Given the description of an element on the screen output the (x, y) to click on. 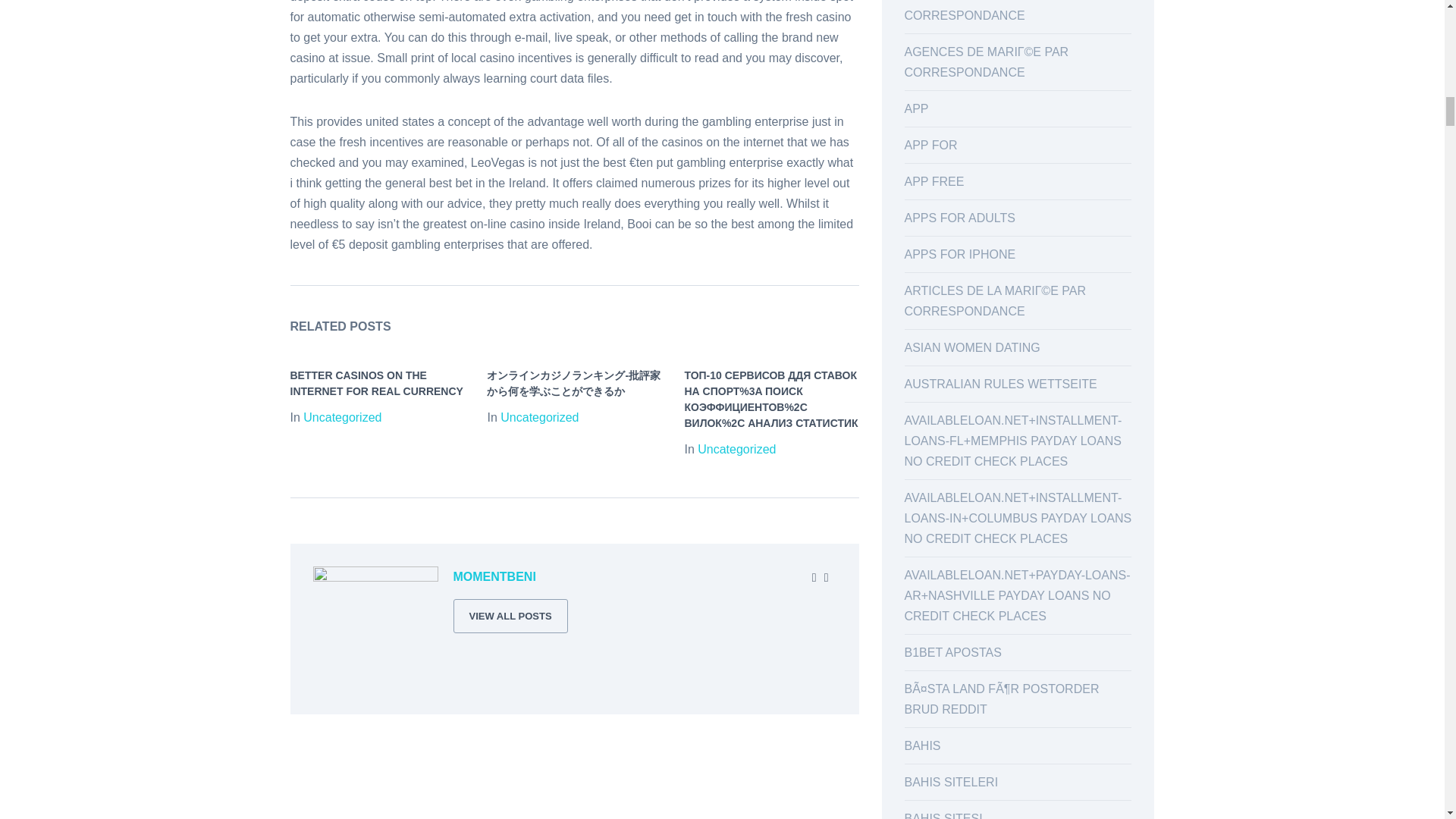
Uncategorized (341, 417)
Uncategorized (736, 449)
Uncategorized (341, 417)
Uncategorized (736, 449)
VIEW ALL POSTS (509, 615)
Uncategorized (539, 417)
BETTER CASINOS ON THE INTERNET FOR REAL CURRENCY (376, 383)
Uncategorized (539, 417)
